Given the description of an element on the screen output the (x, y) to click on. 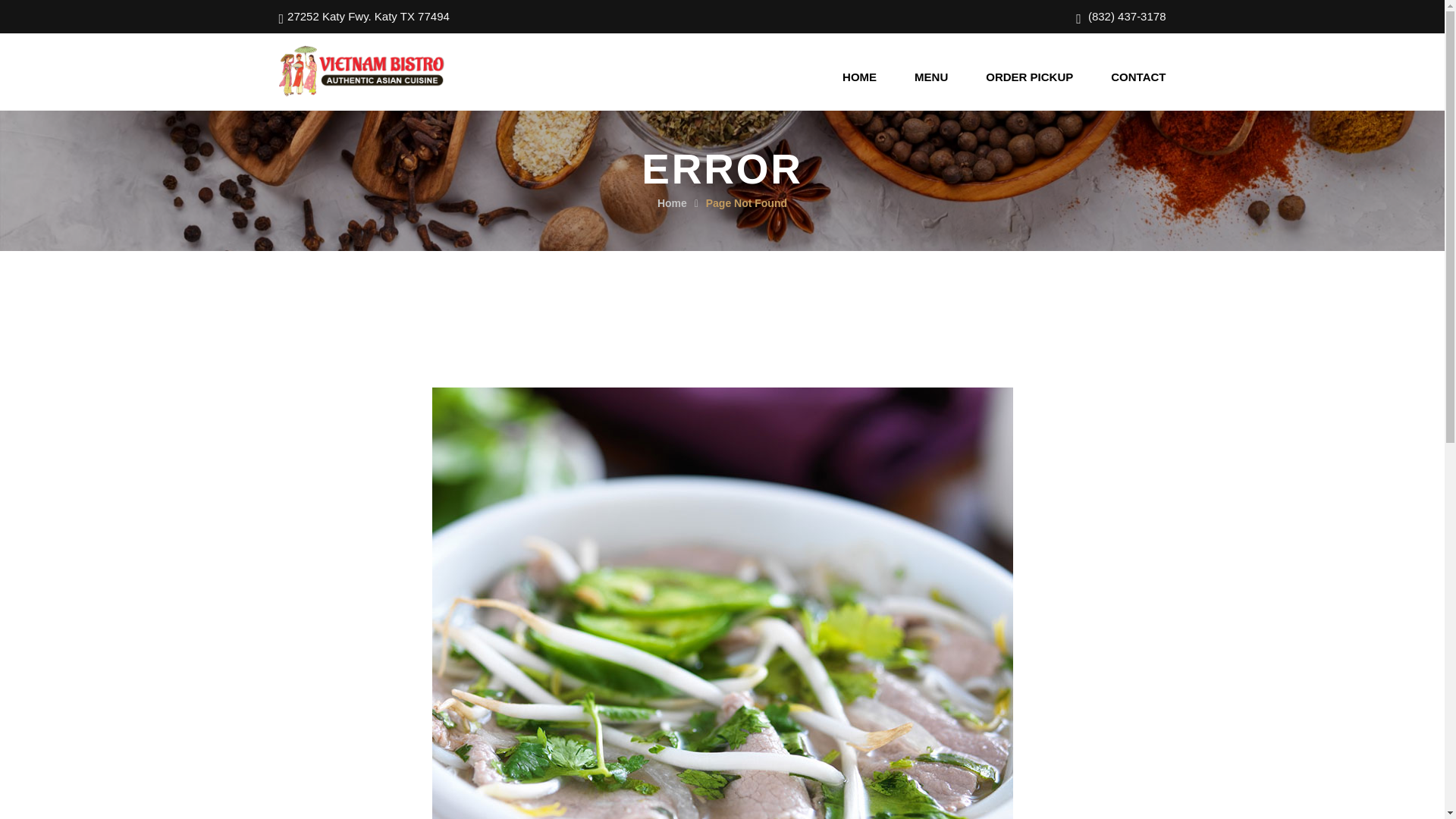
ORDER PICKUP (1029, 76)
View Menu (998, 658)
Home (758, 639)
MENU (930, 76)
Order Takeout (1005, 639)
Menu (757, 658)
Can Ngay (1140, 788)
Contact (762, 677)
Directions (995, 677)
Home (672, 203)
CONTACT (1138, 76)
HOME (859, 76)
